Given the description of an element on the screen output the (x, y) to click on. 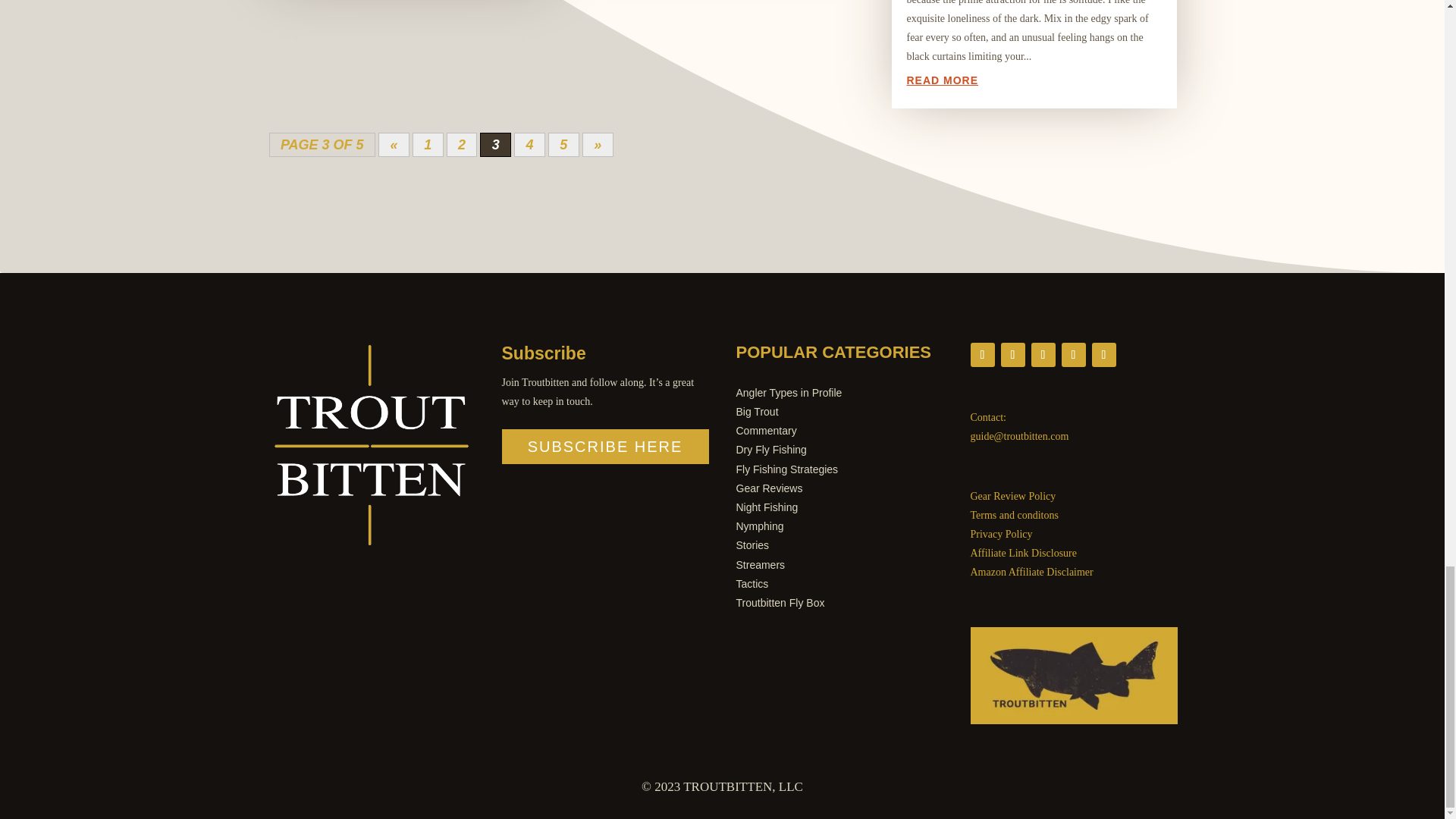
Page 4 (528, 145)
Page 2 (461, 145)
Page 5 (563, 145)
Page 1 (428, 145)
Follow on Facebook (982, 354)
